Given the description of an element on the screen output the (x, y) to click on. 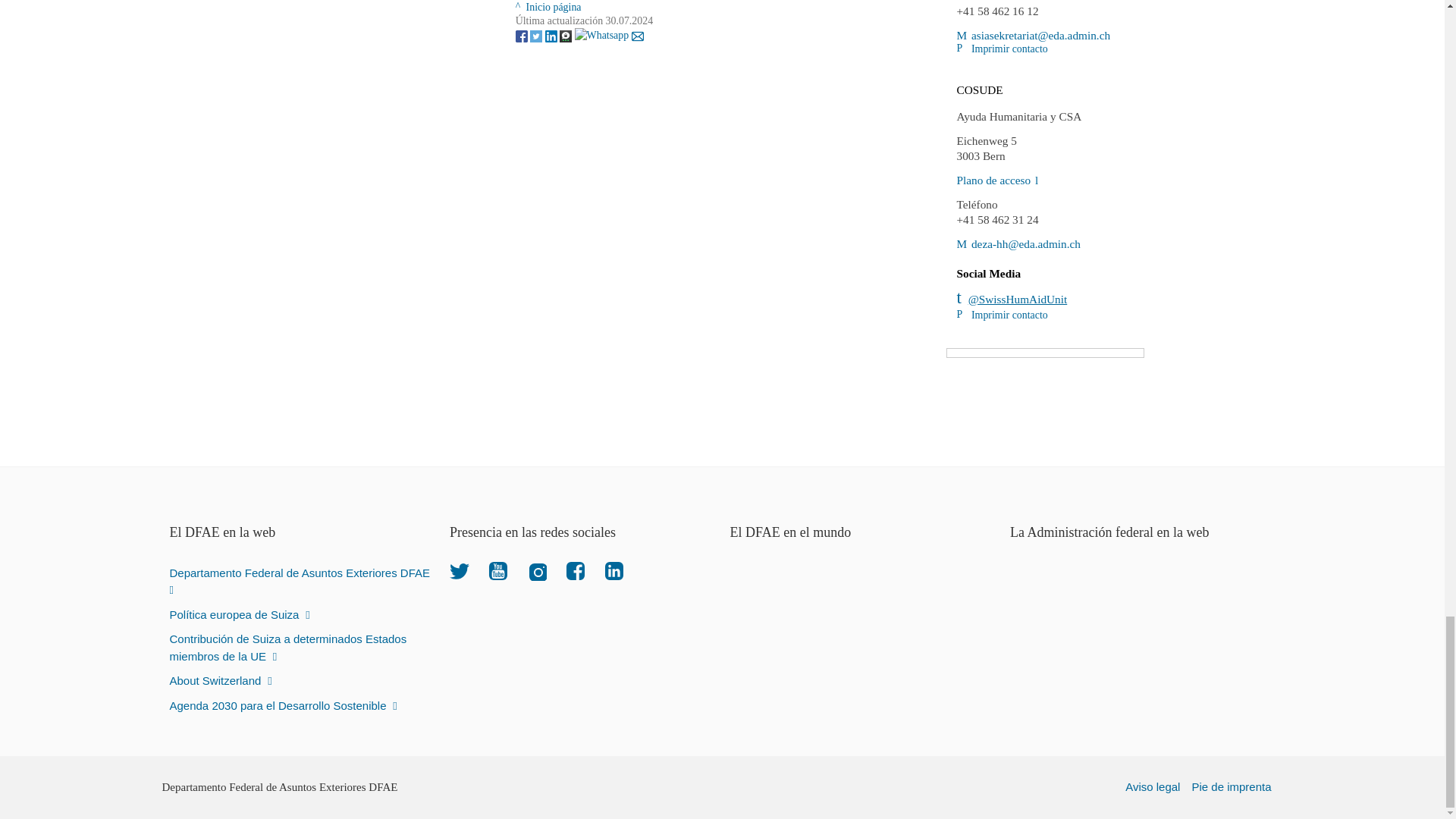
LinkedIn (614, 570)
Instagram (537, 570)
Twitter (458, 570)
Facebook (575, 570)
Texto oculto (1032, 34)
Texto oculto (997, 179)
